Given the description of an element on the screen output the (x, y) to click on. 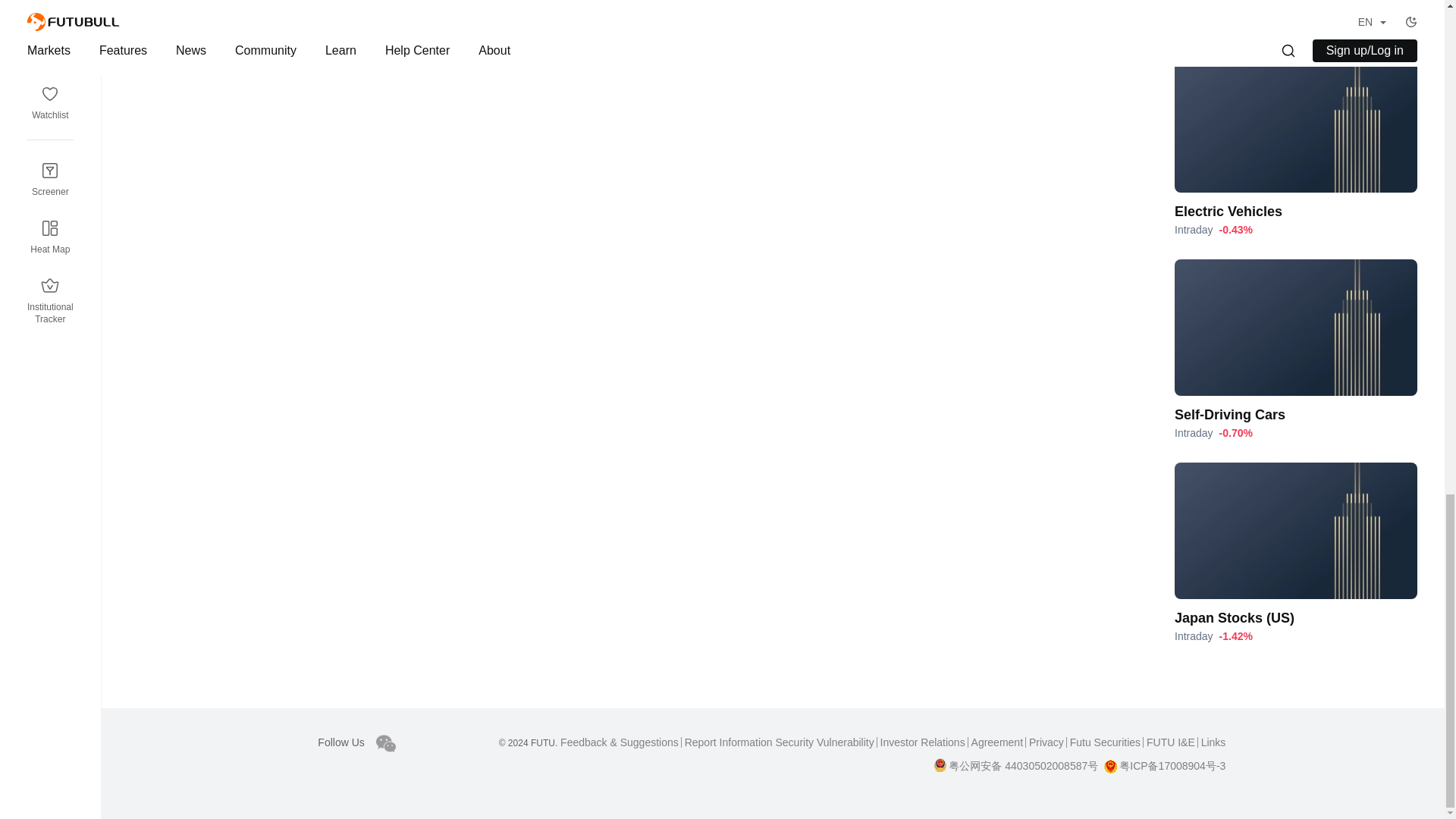
Non-Executive Director (713, 5)
